Given the description of an element on the screen output the (x, y) to click on. 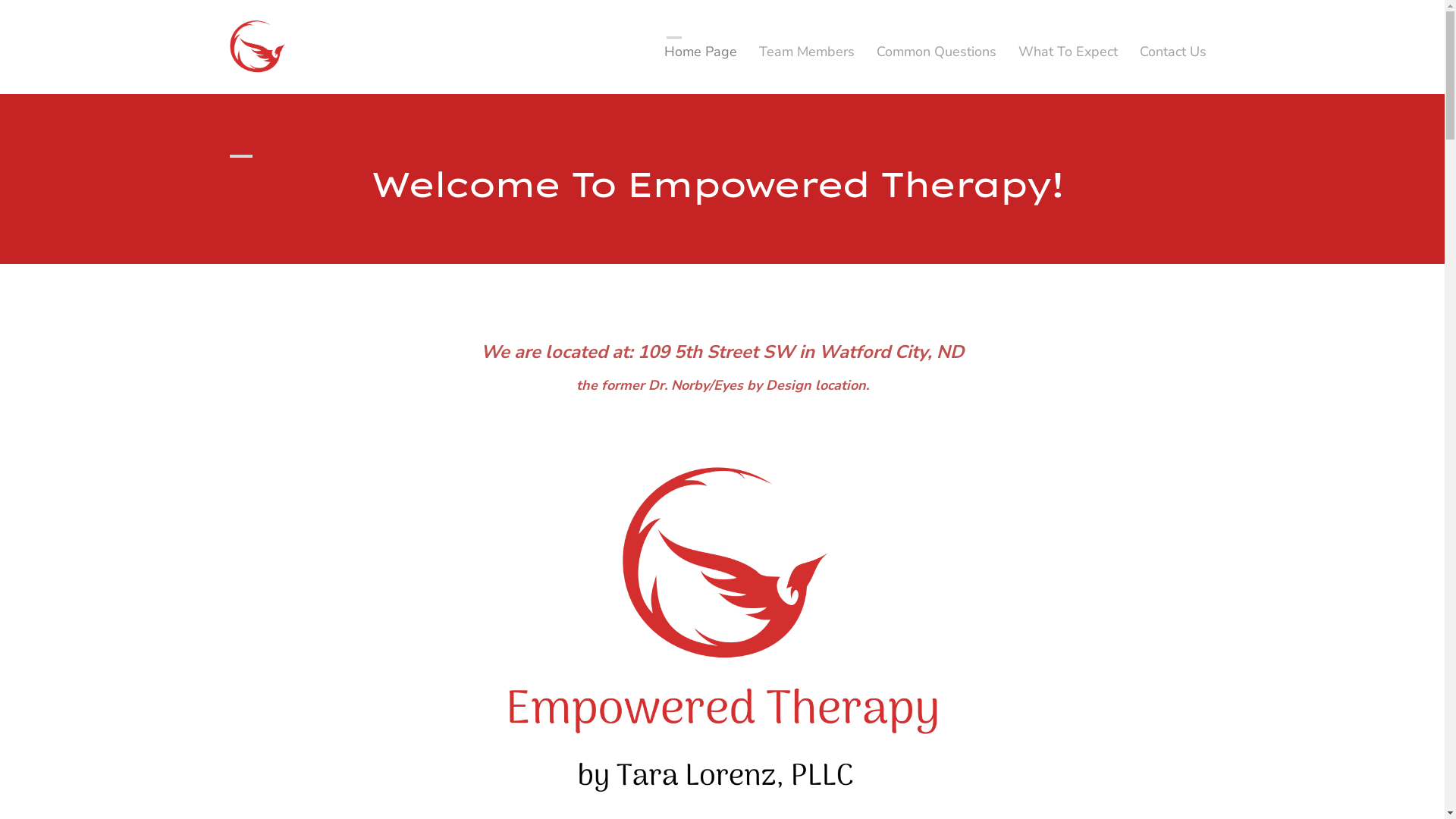
Team Members Element type: text (806, 51)
Common Questions Element type: text (936, 51)
Contact Us Element type: text (1172, 51)
Home Page Element type: text (700, 51)
What To Expect Element type: text (1067, 51)
